Given the description of an element on the screen output the (x, y) to click on. 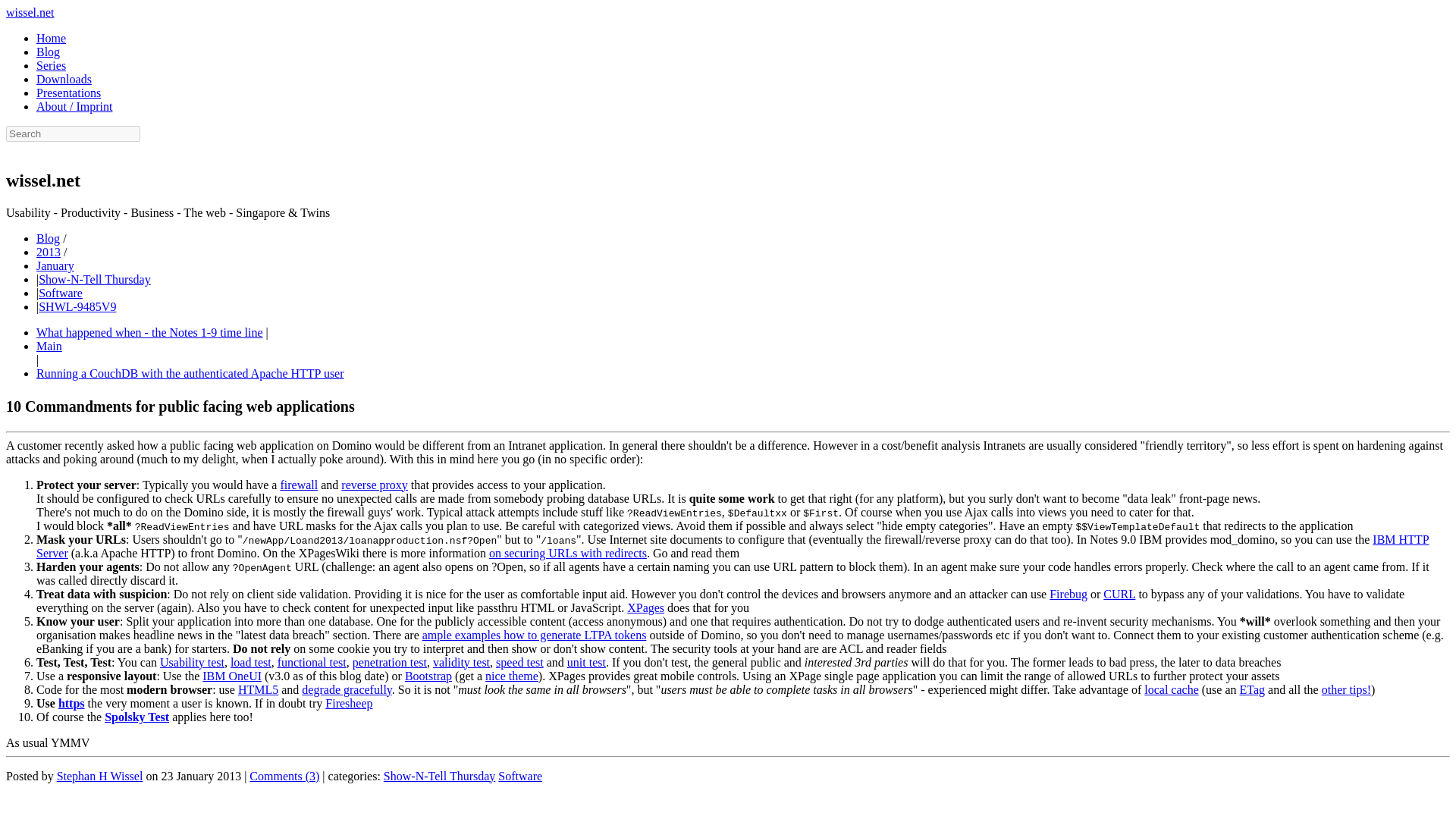
Series (50, 65)
firewall (298, 484)
on securing URLs with redirects (567, 553)
Presentations maintained on GitHub (68, 92)
Software (60, 292)
Bootstrap (427, 675)
local cache (1171, 689)
Blog (47, 237)
HTML5 (258, 689)
load test (250, 662)
penetration test (389, 662)
reverse proxy (373, 484)
Downloads (63, 78)
Blog (47, 51)
degrade gracefully (346, 689)
